Given the description of an element on the screen output the (x, y) to click on. 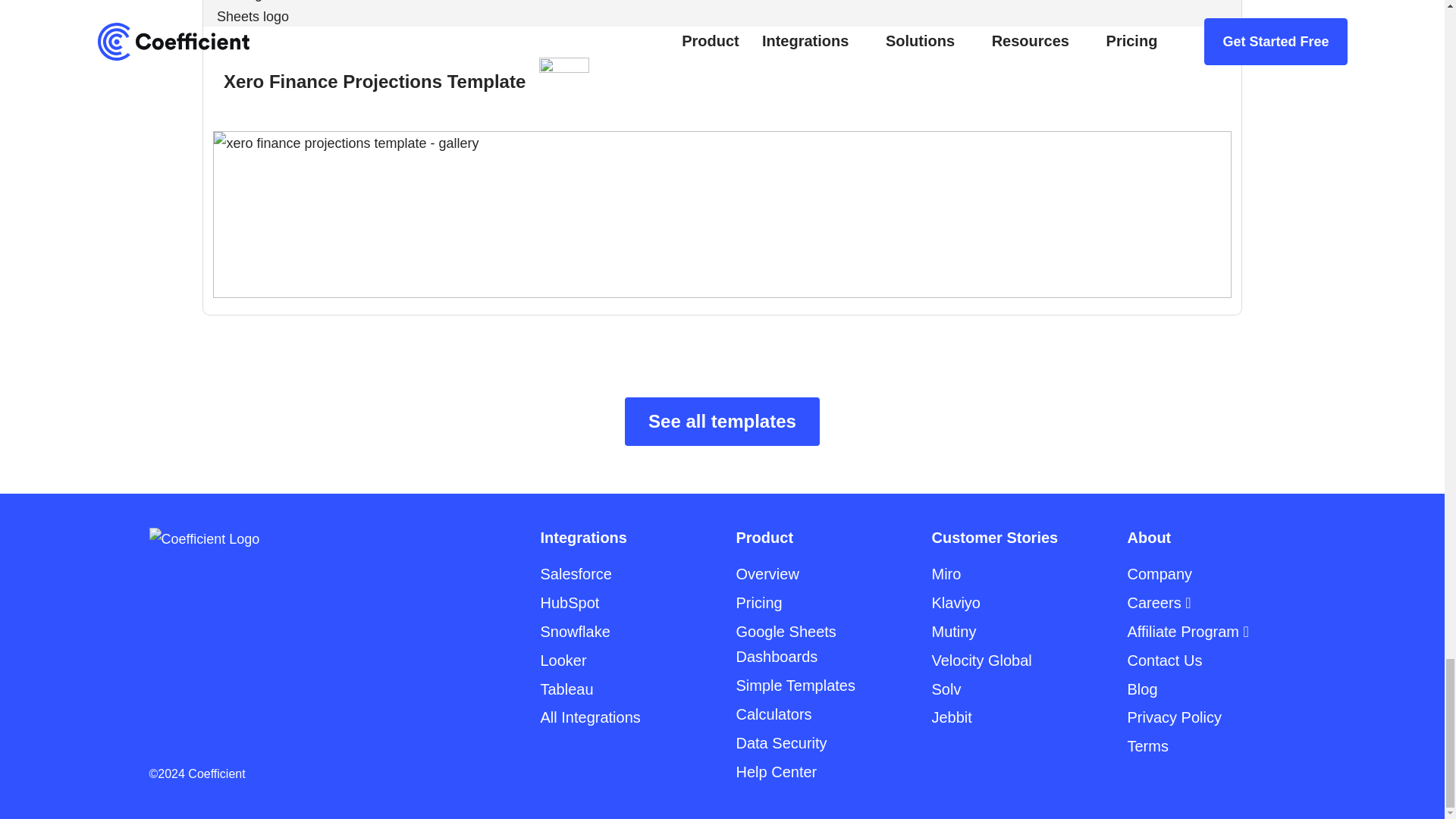
Snowflake (575, 631)
HubSpot (569, 602)
See all templates (721, 421)
Salesforce (575, 573)
